Given the description of an element on the screen output the (x, y) to click on. 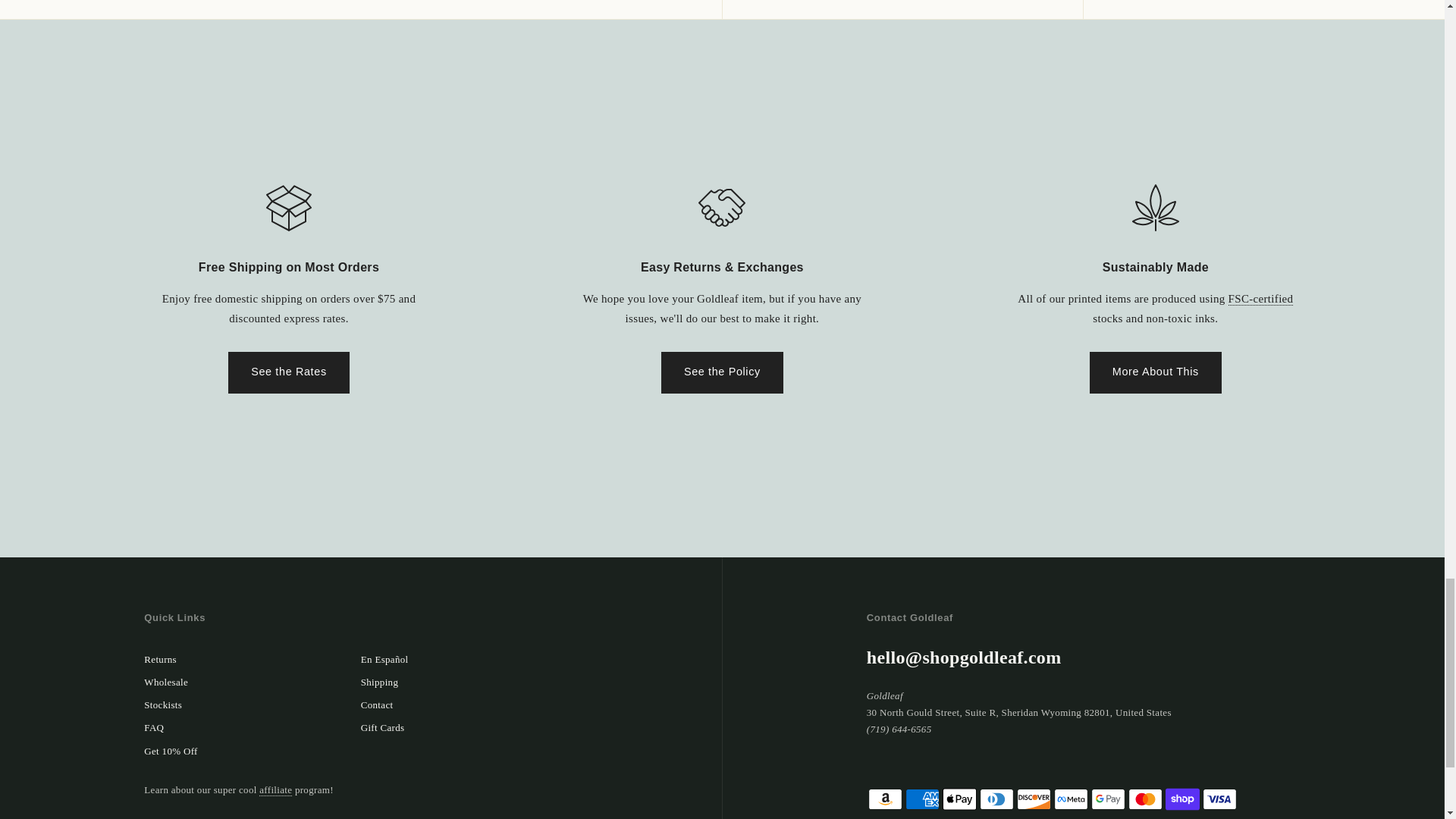
Affiliate Program (275, 789)
